Given the description of an element on the screen output the (x, y) to click on. 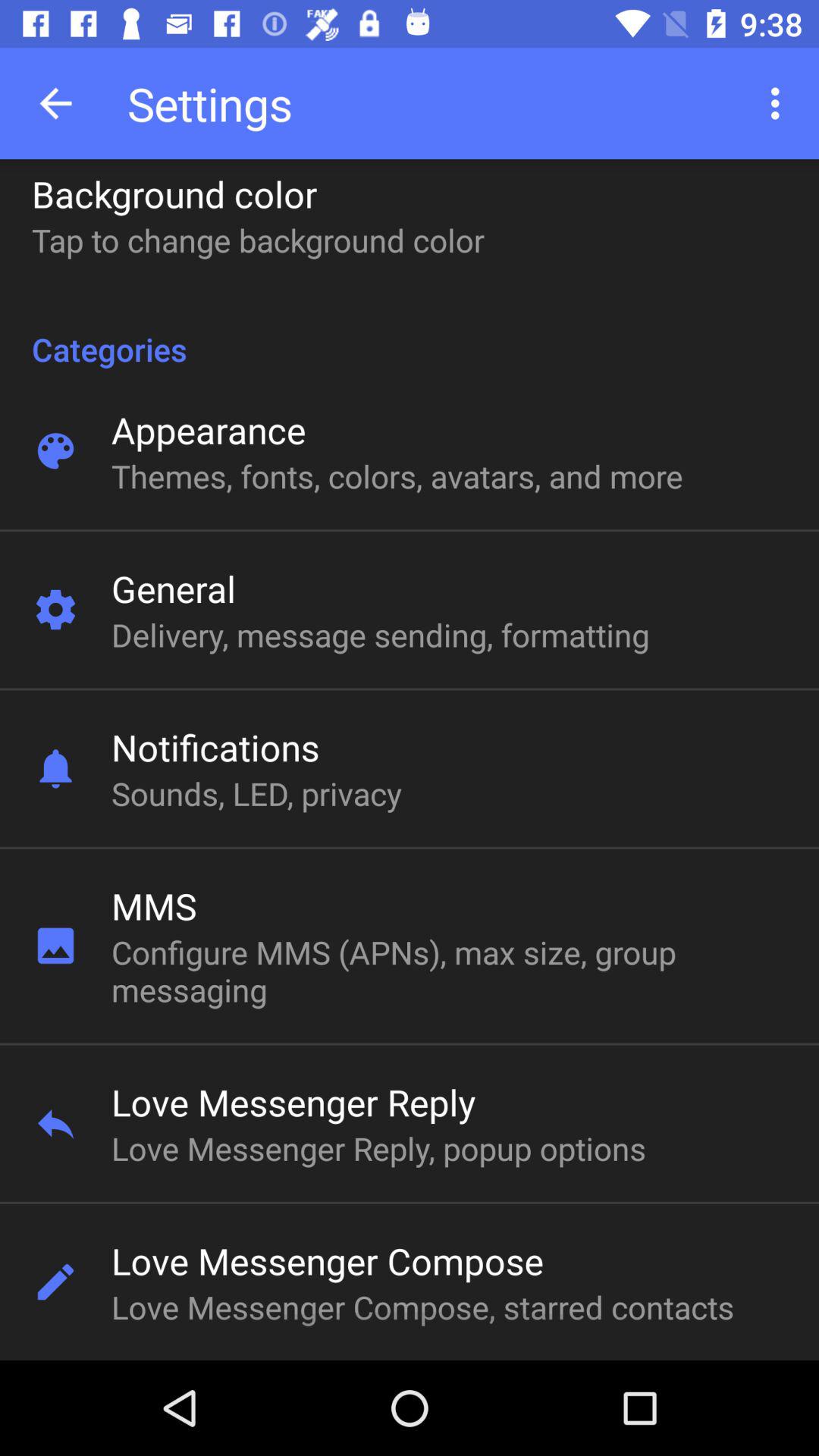
launch themes fonts colors item (397, 475)
